Given the description of an element on the screen output the (x, y) to click on. 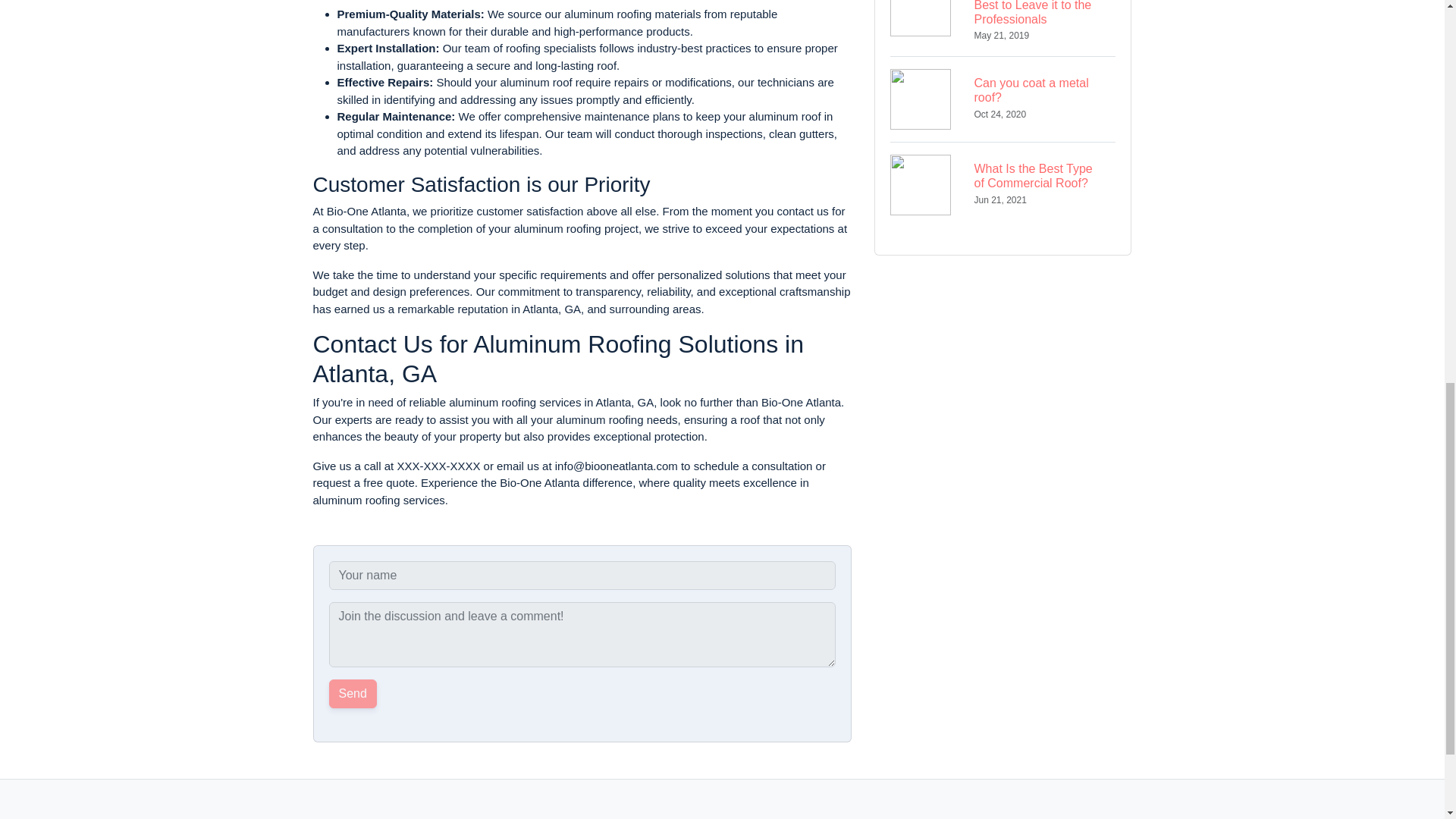
Privacy policy (674, 817)
Terms of service (1002, 98)
Send (763, 817)
Send (1002, 184)
